Given the description of an element on the screen output the (x, y) to click on. 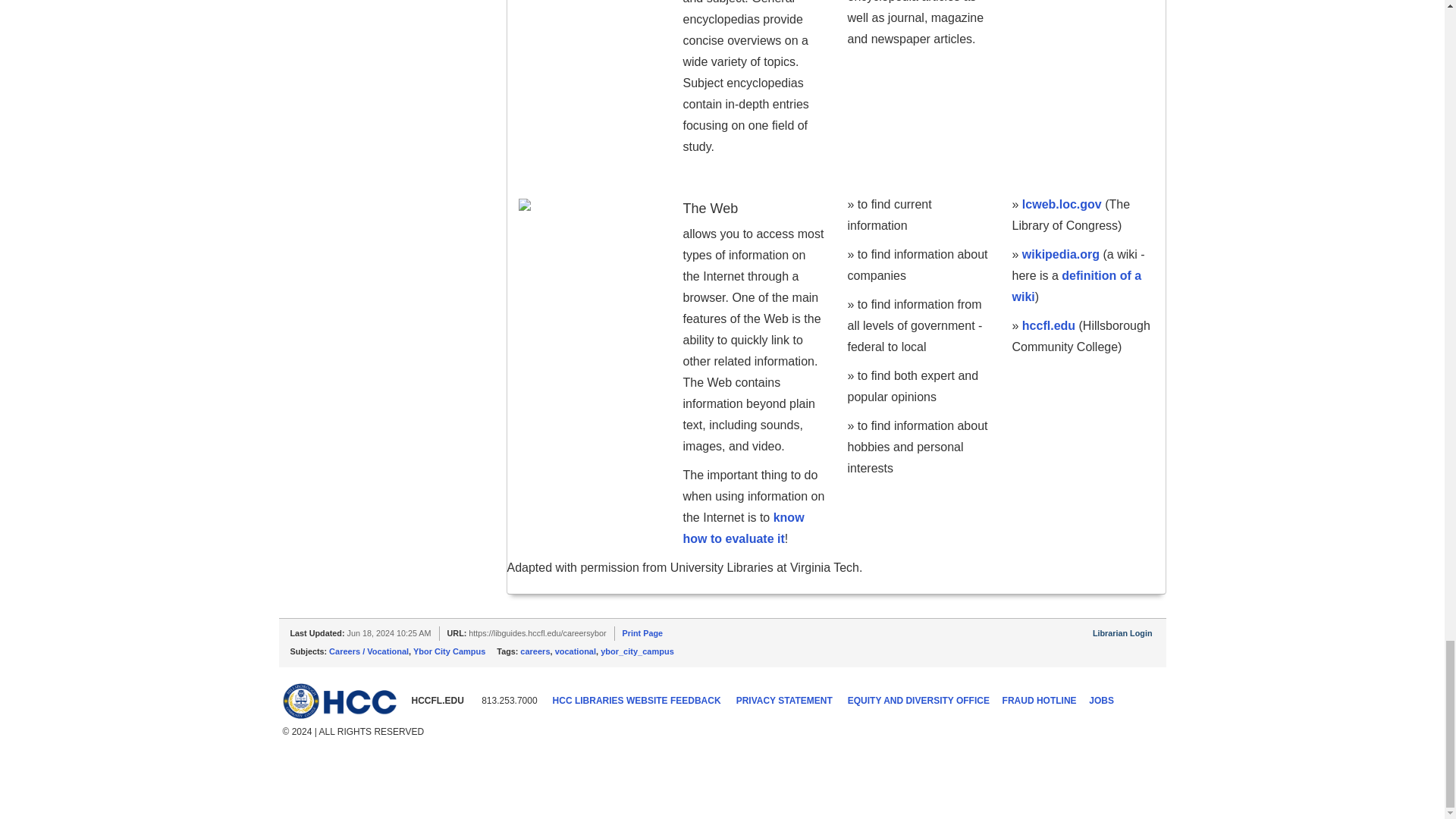
wikipedia.org (1060, 254)
know how to evaluate it (742, 528)
hccfl.edu (1048, 325)
vocational (574, 651)
Ybor City Campus (448, 651)
definition of a wiki (1076, 286)
Print Page (642, 633)
lcweb.loc.gov (1062, 204)
Librarian Login (1123, 633)
careers (534, 651)
